Given the description of an element on the screen output the (x, y) to click on. 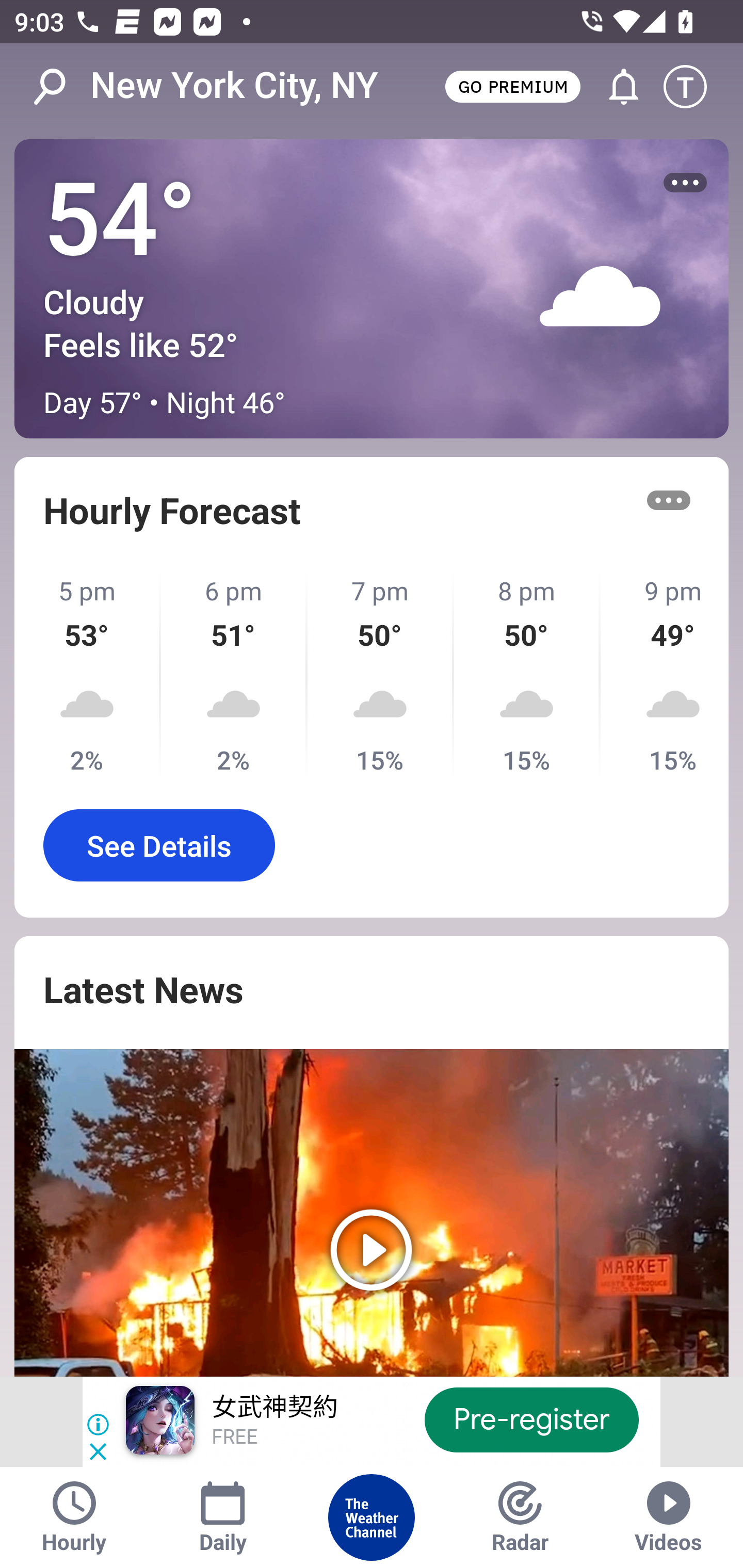
Search (59, 86)
Go to Alerts and Notifications (614, 86)
Setting icon T (694, 86)
New York City, NY (234, 85)
GO PREMIUM (512, 85)
More options (684, 182)
More options (668, 500)
5 pm 53° 2% (87, 674)
6 pm 51° 2% (234, 674)
7 pm 50° 15% (380, 674)
8 pm 50° 15% (526, 674)
9 pm 49° 15% (664, 674)
See Details (158, 845)
Play (371, 1212)
Pre-register (530, 1419)
女武神契約 (274, 1407)
FREE (234, 1437)
Hourly Tab Hourly (74, 1517)
Daily Tab Daily (222, 1517)
Radar Tab Radar (519, 1517)
Videos Tab Videos (668, 1517)
